Given the description of an element on the screen output the (x, y) to click on. 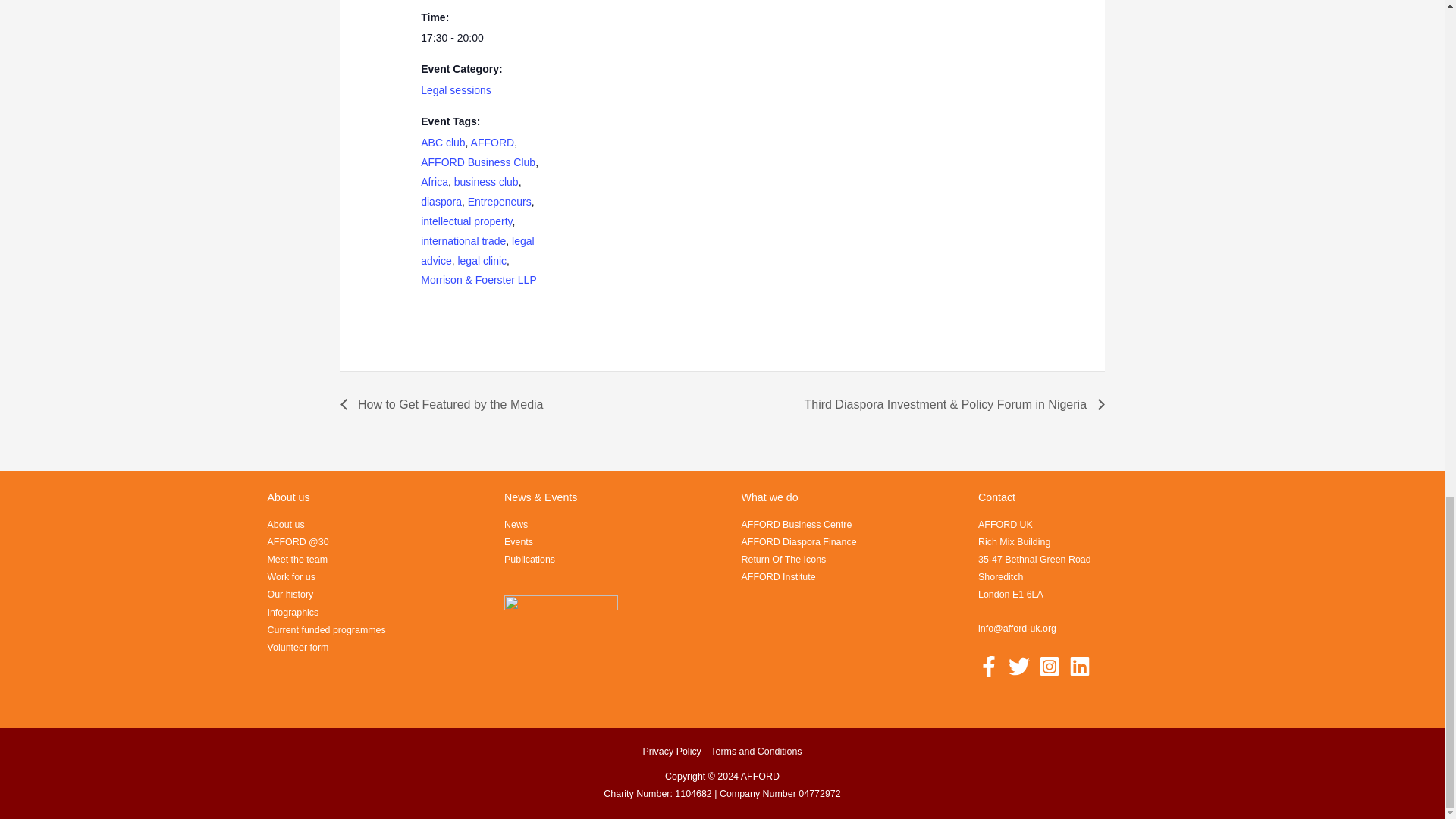
2018-09-20 (484, 38)
